Given the description of an element on the screen output the (x, y) to click on. 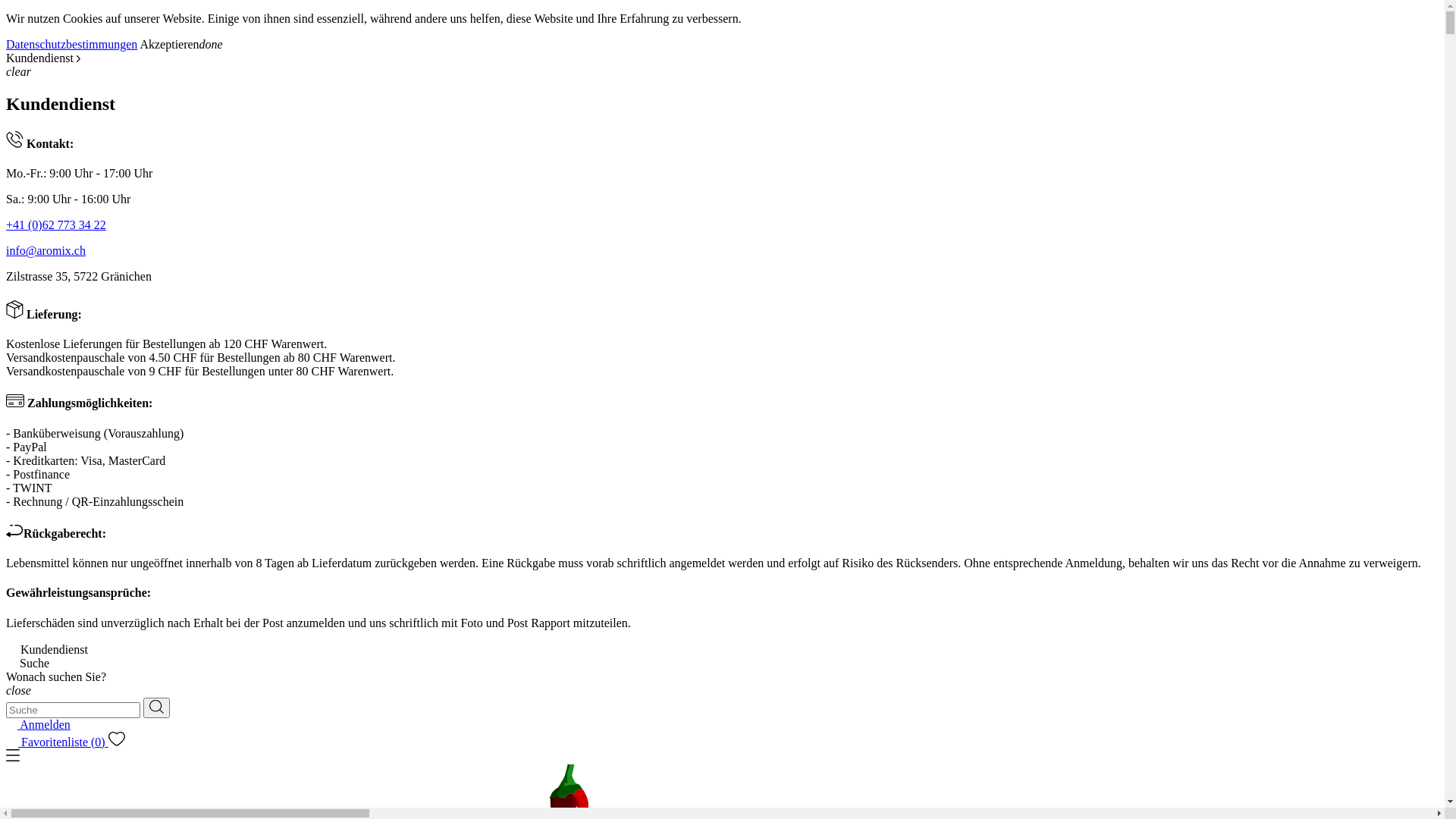
Datenschutzbestimmungen Element type: text (71, 43)
+41 (0)62 773 34 22 Element type: text (56, 224)
Favoritenliste (0) Element type: text (65, 741)
info@aromix.ch Element type: text (45, 250)
Anmelden Element type: text (38, 724)
